Given the description of an element on the screen output the (x, y) to click on. 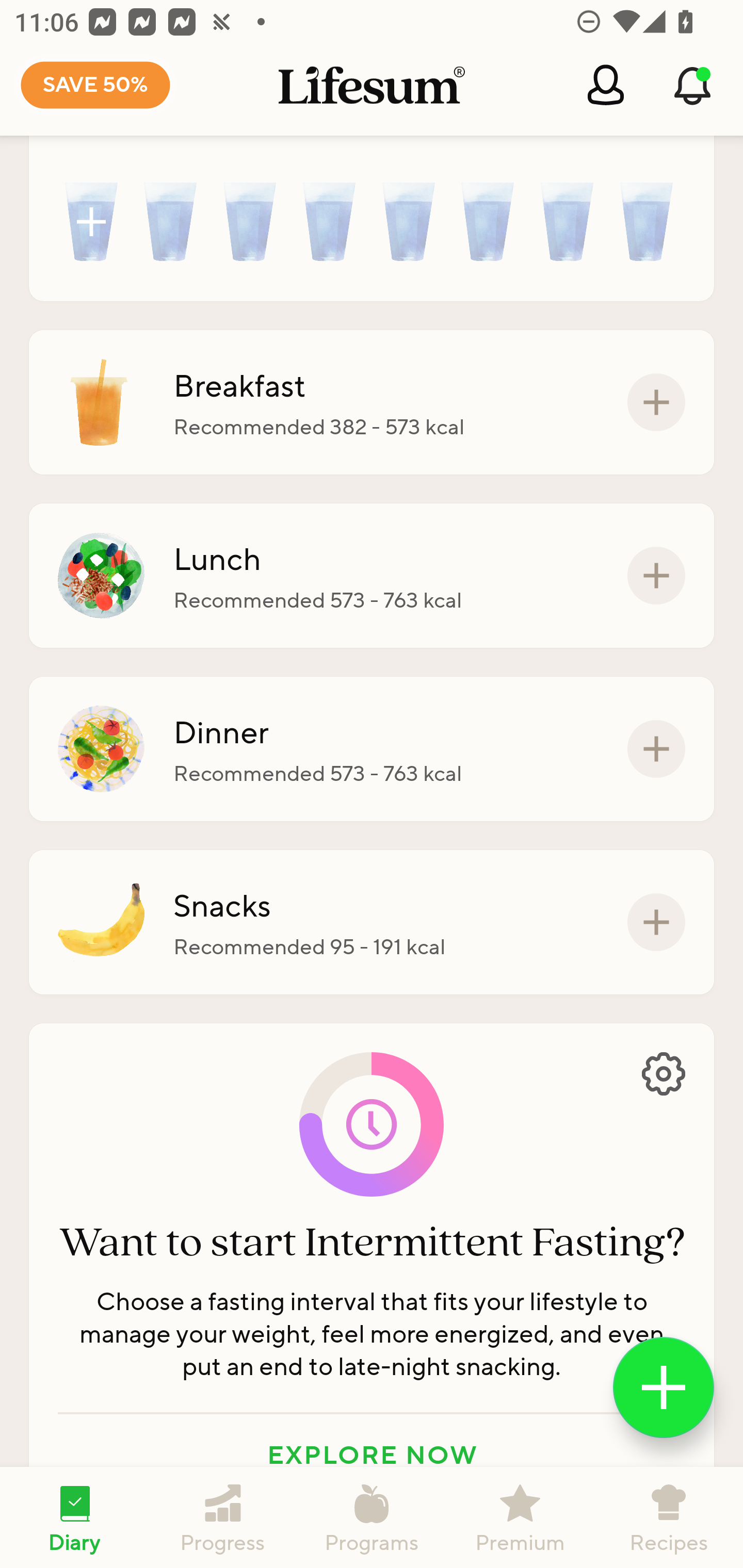
Breakfast Recommended 382 - 573 kcal (371, 402)
Lunch Recommended 573 - 763 kcal (371, 575)
Dinner Recommended 573 - 763 kcal (371, 749)
Snacks Recommended 95 - 191 kcal (371, 921)
EXPLORE NOW (371, 1454)
Progress (222, 1517)
Programs (371, 1517)
Premium (519, 1517)
Recipes (668, 1517)
